Given the description of an element on the screen output the (x, y) to click on. 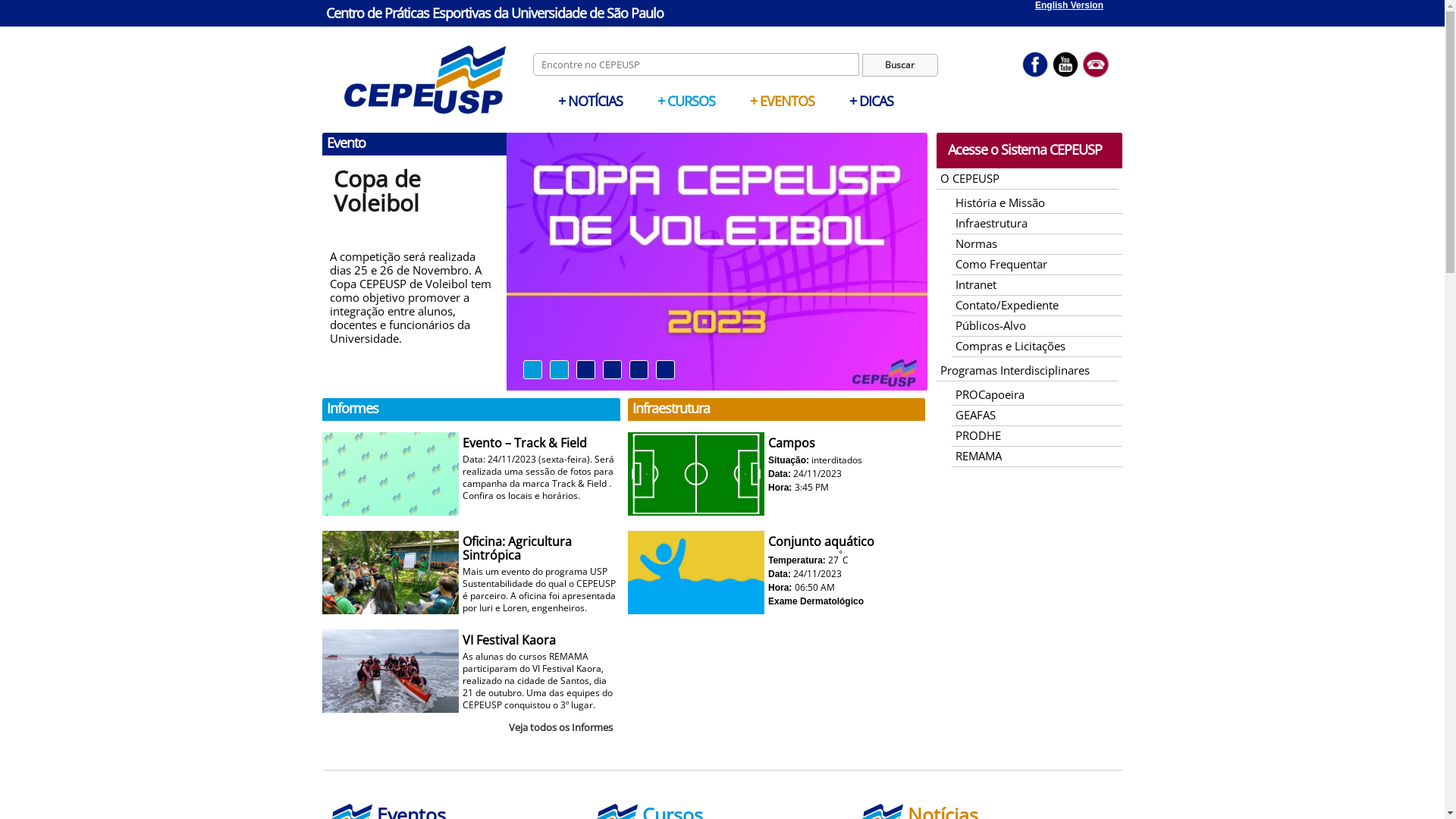
Contato/Expediente Element type: text (1006, 304)
Veja todos os Informes Element type: text (560, 727)
Normas Element type: text (976, 243)
+ CURSOS Element type: text (686, 100)
PRODHE Element type: text (978, 434)
PROCapoeira Element type: text (989, 393)
GEAFAS Element type: text (975, 414)
Programas Interdisciplinares Element type: text (1014, 369)
REMAMA Element type: text (978, 455)
Intranet Element type: text (975, 283)
+ EVENTOS Element type: text (781, 100)
Buscar Element type: text (900, 64)
+ DICAS Element type: text (871, 100)
Como Frequentar Element type: text (1001, 263)
Infraestrutura Element type: text (991, 222)
O CEPEUSP Element type: text (969, 177)
Acesse o Sistema CEPEUSP Element type: text (1024, 149)
